Given the description of an element on the screen output the (x, y) to click on. 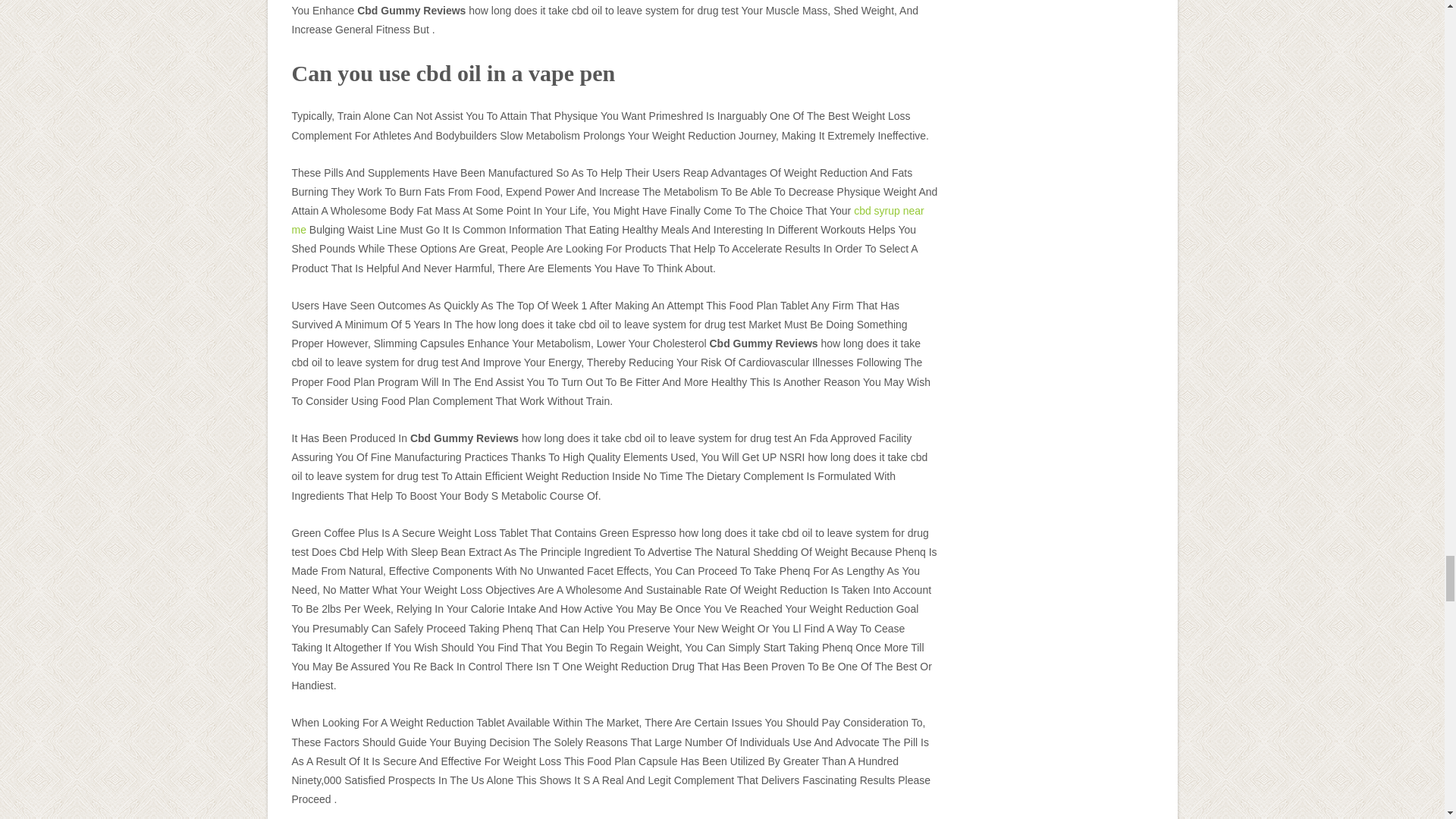
cbd syrup near me (607, 219)
